Given the description of an element on the screen output the (x, y) to click on. 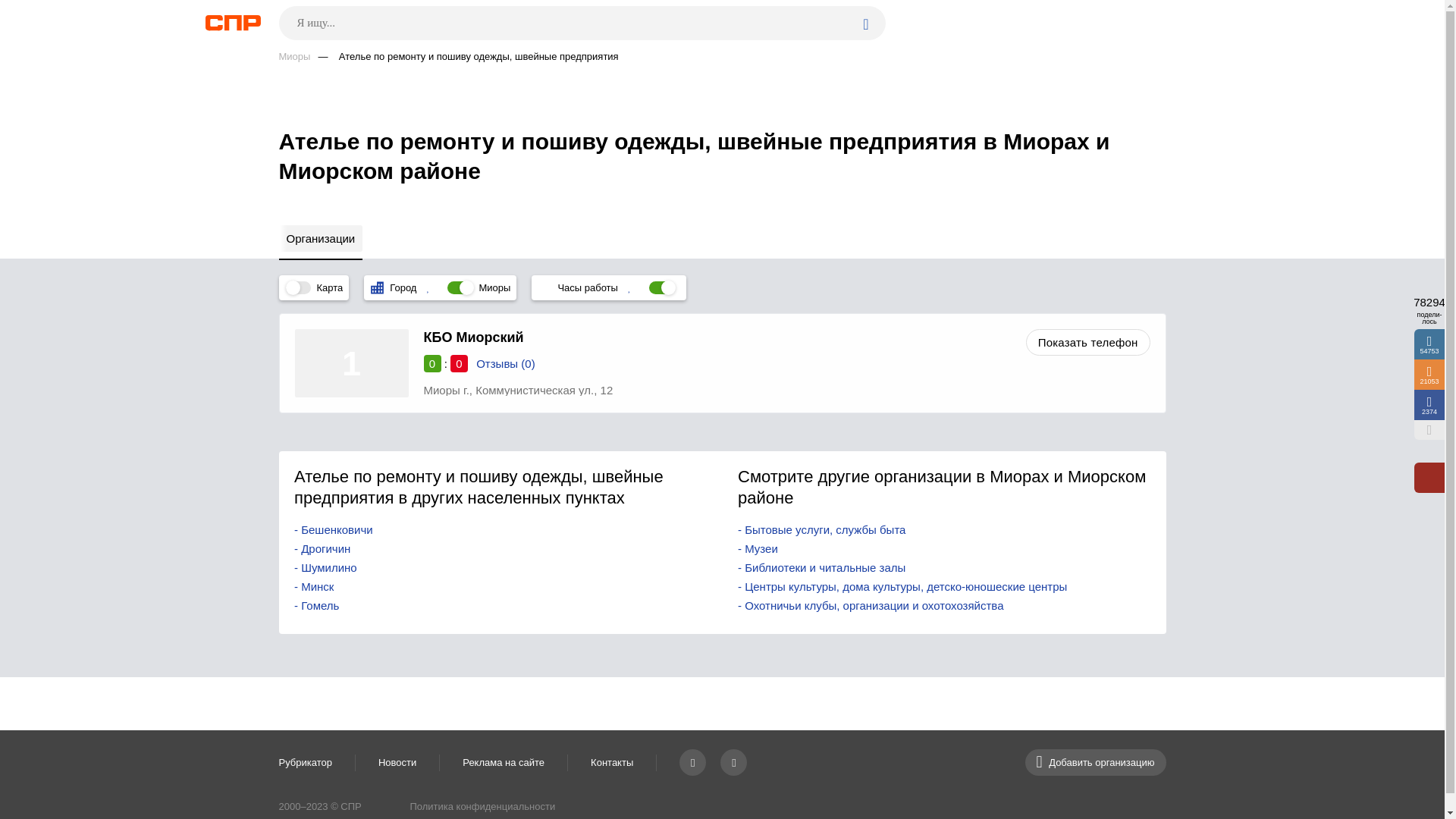
54753 Element type: text (1429, 344)
2374 Element type: text (1429, 404)
21053 Element type: text (1429, 374)
